Given the description of an element on the screen output the (x, y) to click on. 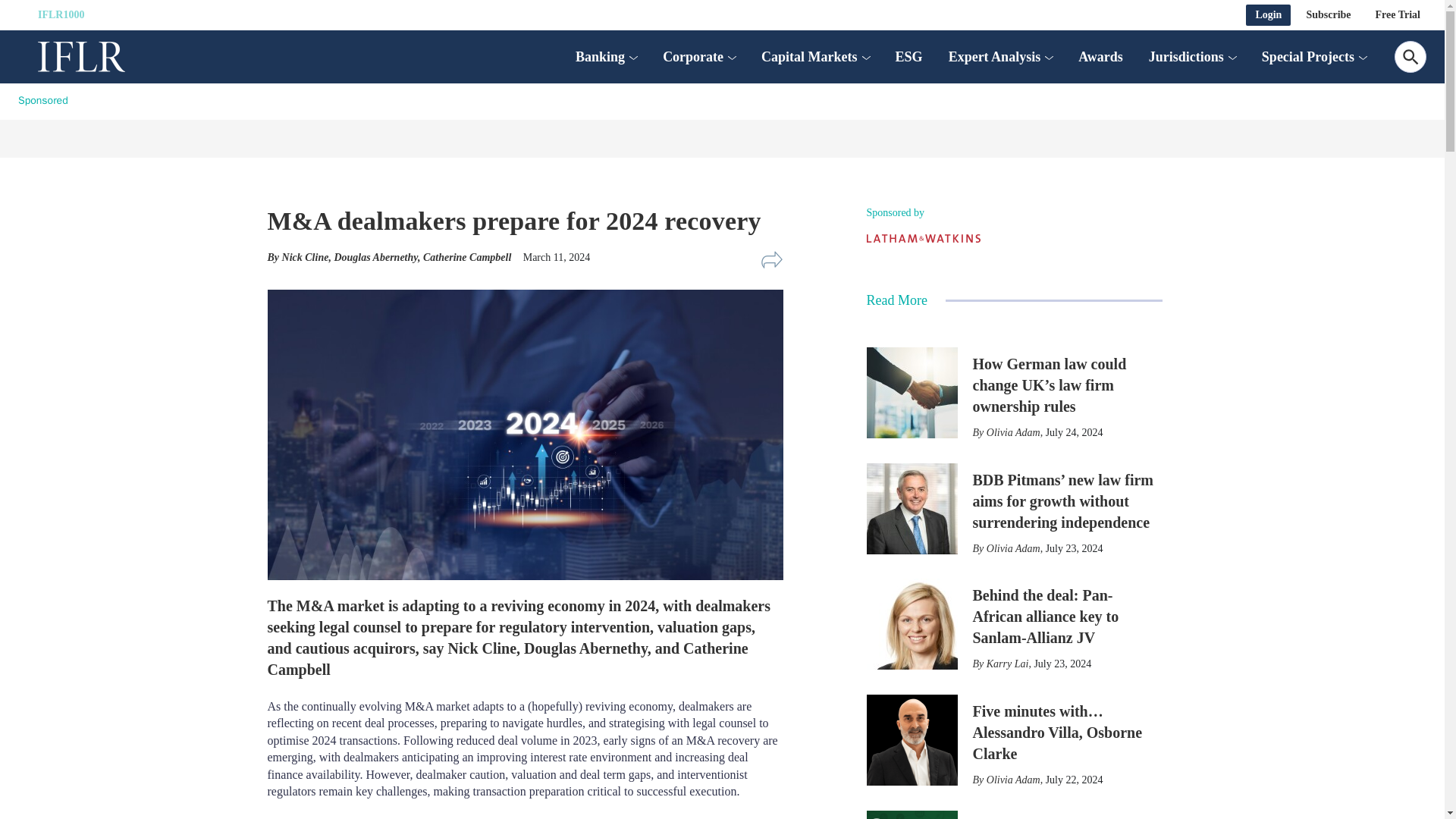
ESG (909, 56)
IFLR1000 (60, 14)
Banking (599, 56)
Expert Analysis (995, 56)
Subscribe (1328, 14)
Free Trial (1398, 14)
Share (771, 259)
Login (1268, 14)
Capital Markets (809, 56)
Corporate (692, 56)
